Given the description of an element on the screen output the (x, y) to click on. 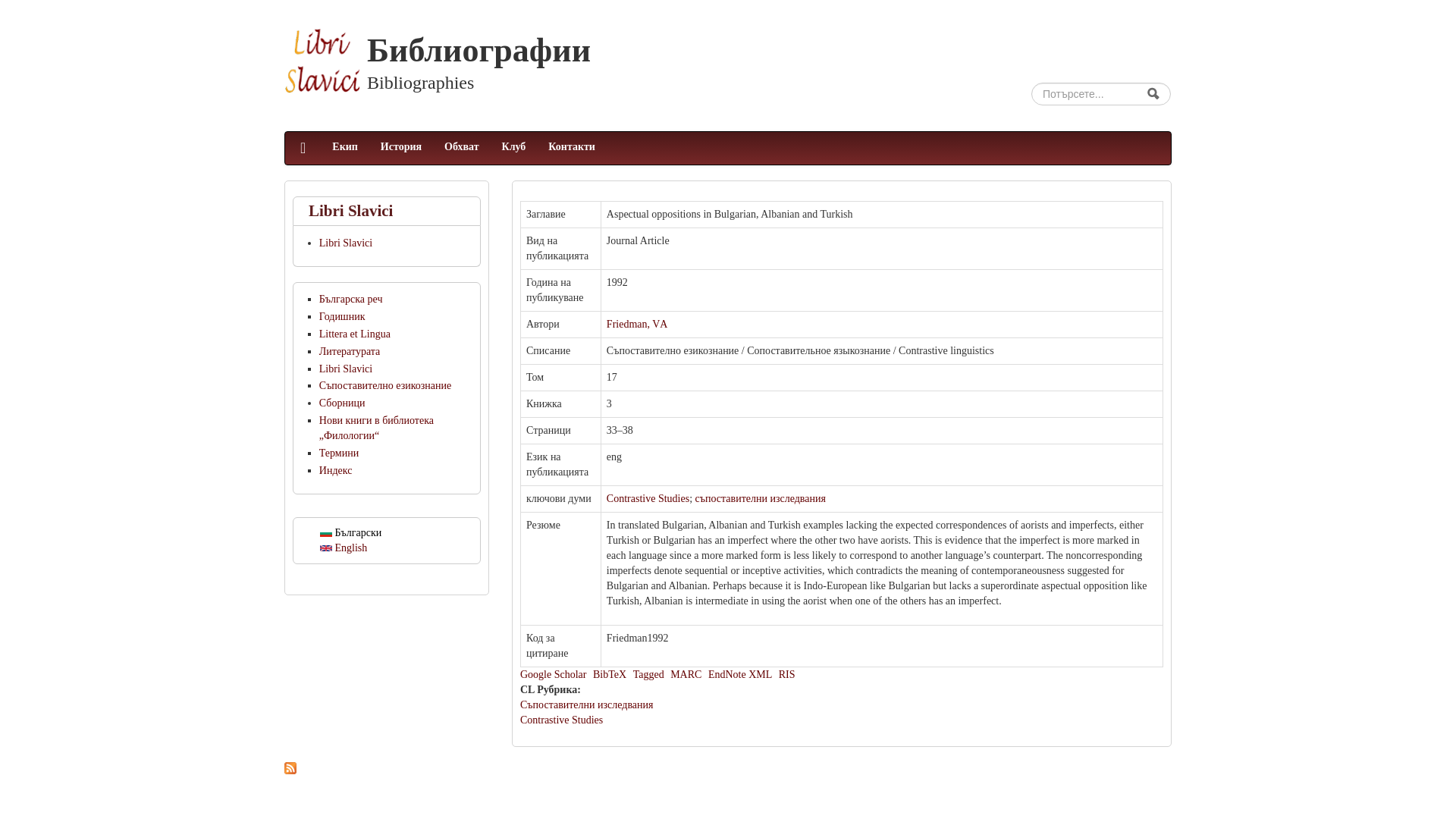
Libri Slavici (321, 61)
Libri Slavici (396, 242)
Contrastive Studies (560, 719)
Click to download the BibTeX formatted file (609, 674)
Click to download the EndNote Tagged formatted file (648, 674)
Skip to content (32, 18)
BibTeX (609, 674)
Click to search Google Scholar for this entry (552, 674)
Contrastive Studies (647, 498)
English (343, 547)
RIS (786, 674)
MARC (685, 674)
Click to download the EndNote XML formatted file (739, 674)
Tagged (648, 674)
